Given the description of an element on the screen output the (x, y) to click on. 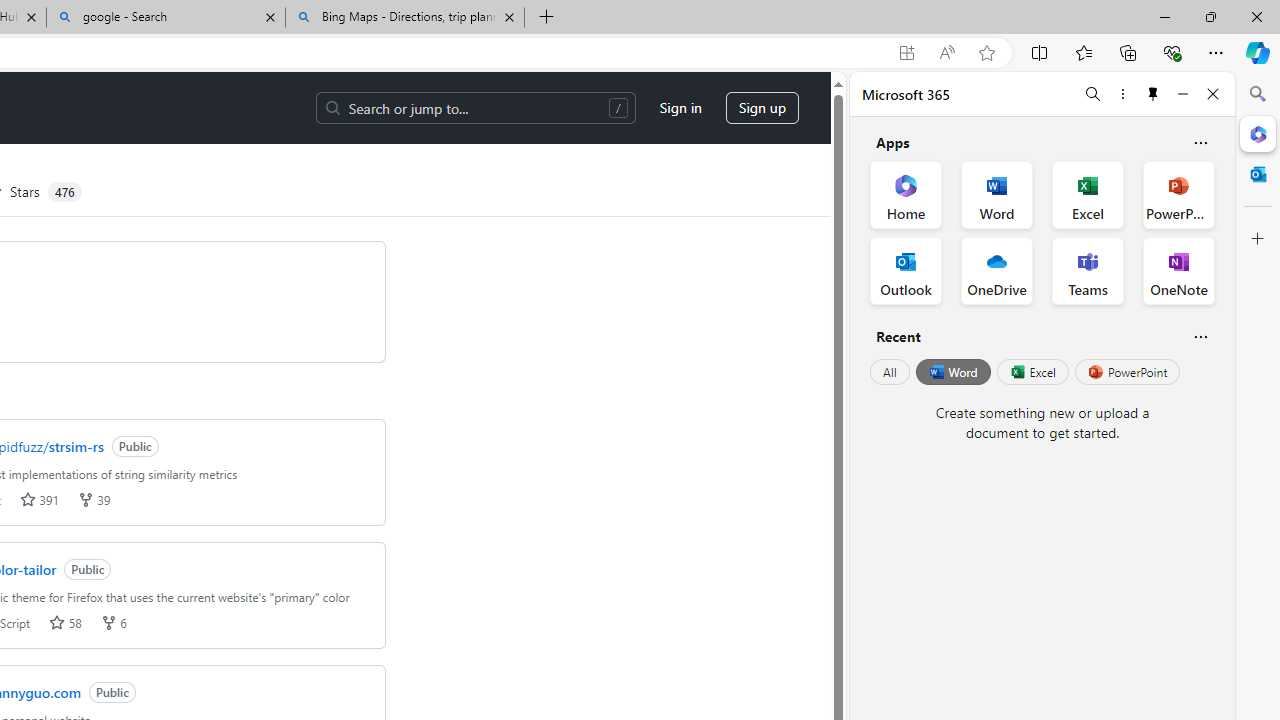
stars 391 (39, 499)
Sign up (761, 107)
Home Office App (906, 194)
stars (57, 622)
Word (952, 372)
forks 6 (112, 622)
Outlook Office App (906, 270)
App available. Install GitHub (906, 53)
